Given the description of an element on the screen output the (x, y) to click on. 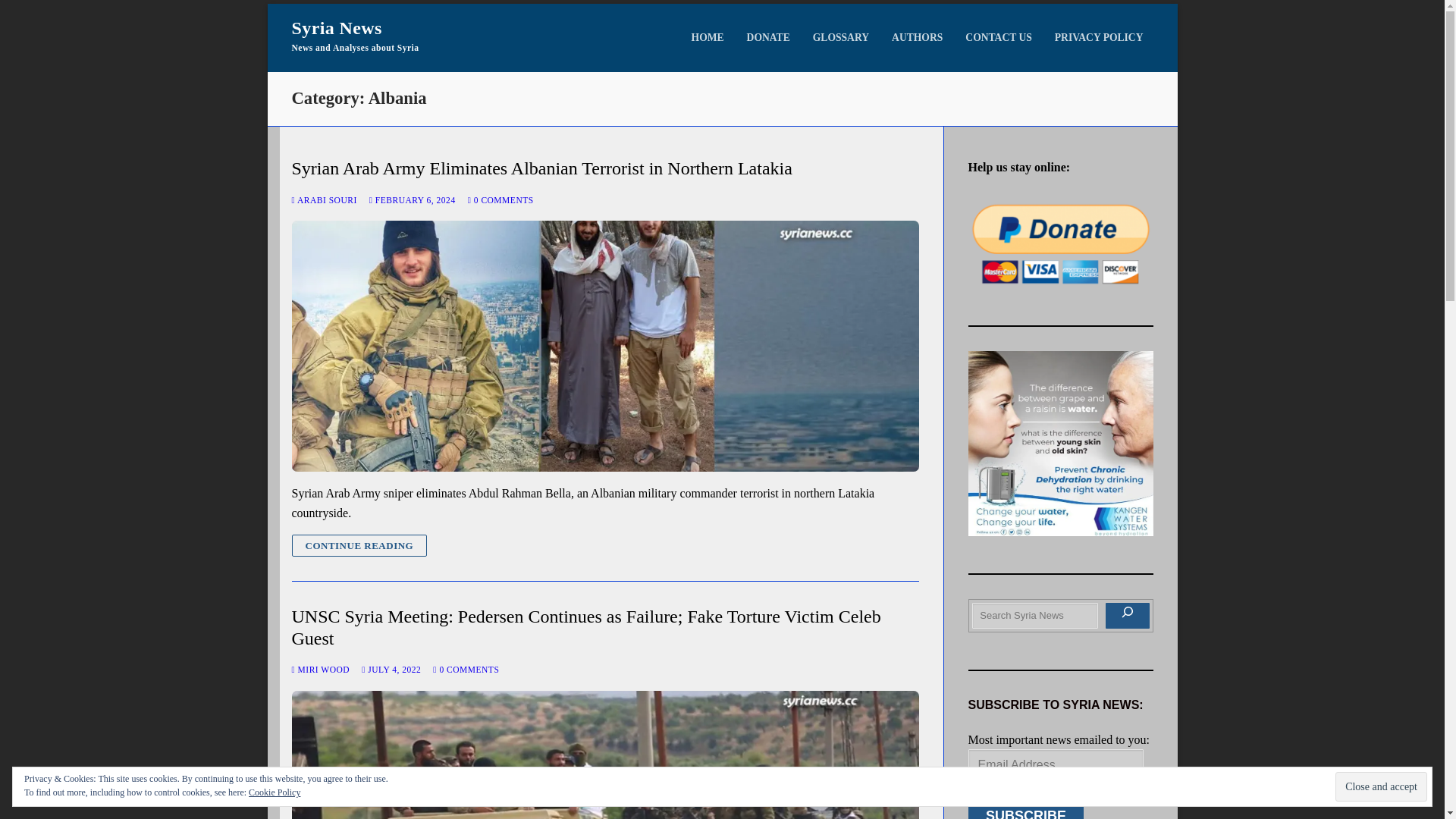
0 COMMENTS (500, 199)
CONTACT US (998, 37)
FEBRUARY 6, 2024 (412, 199)
0 COMMENTS (465, 669)
DONATE (767, 37)
PRIVACY POLICY (1099, 37)
Close and accept (1380, 786)
Syria News (336, 27)
ARABI SOURI (323, 199)
AUTHORS (917, 37)
MIRI WOOD (320, 669)
